Given the description of an element on the screen output the (x, y) to click on. 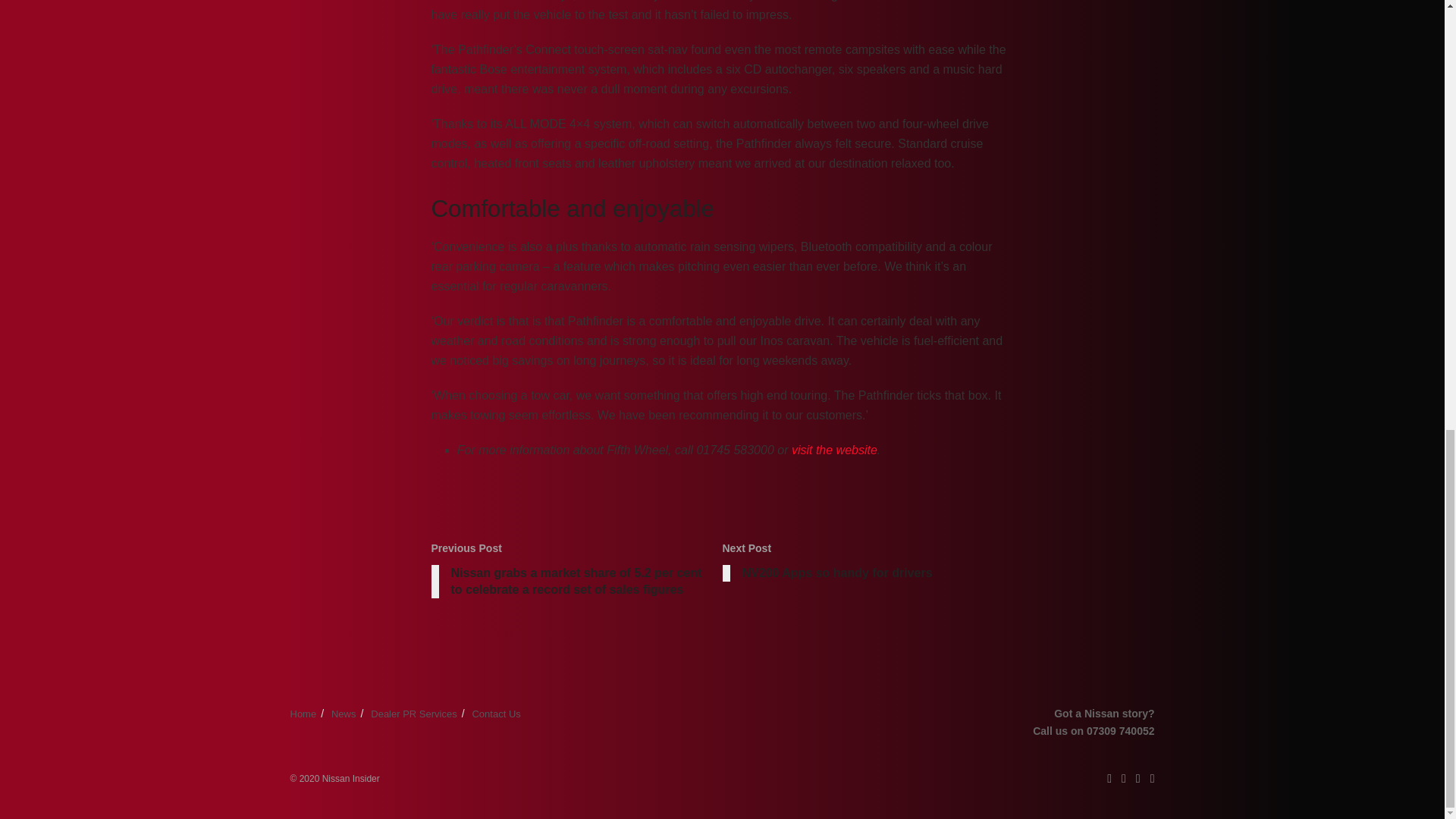
Home (302, 713)
News (343, 713)
Contact Us (495, 713)
visit the website (867, 563)
Dealer PR Services (834, 449)
